Given the description of an element on the screen output the (x, y) to click on. 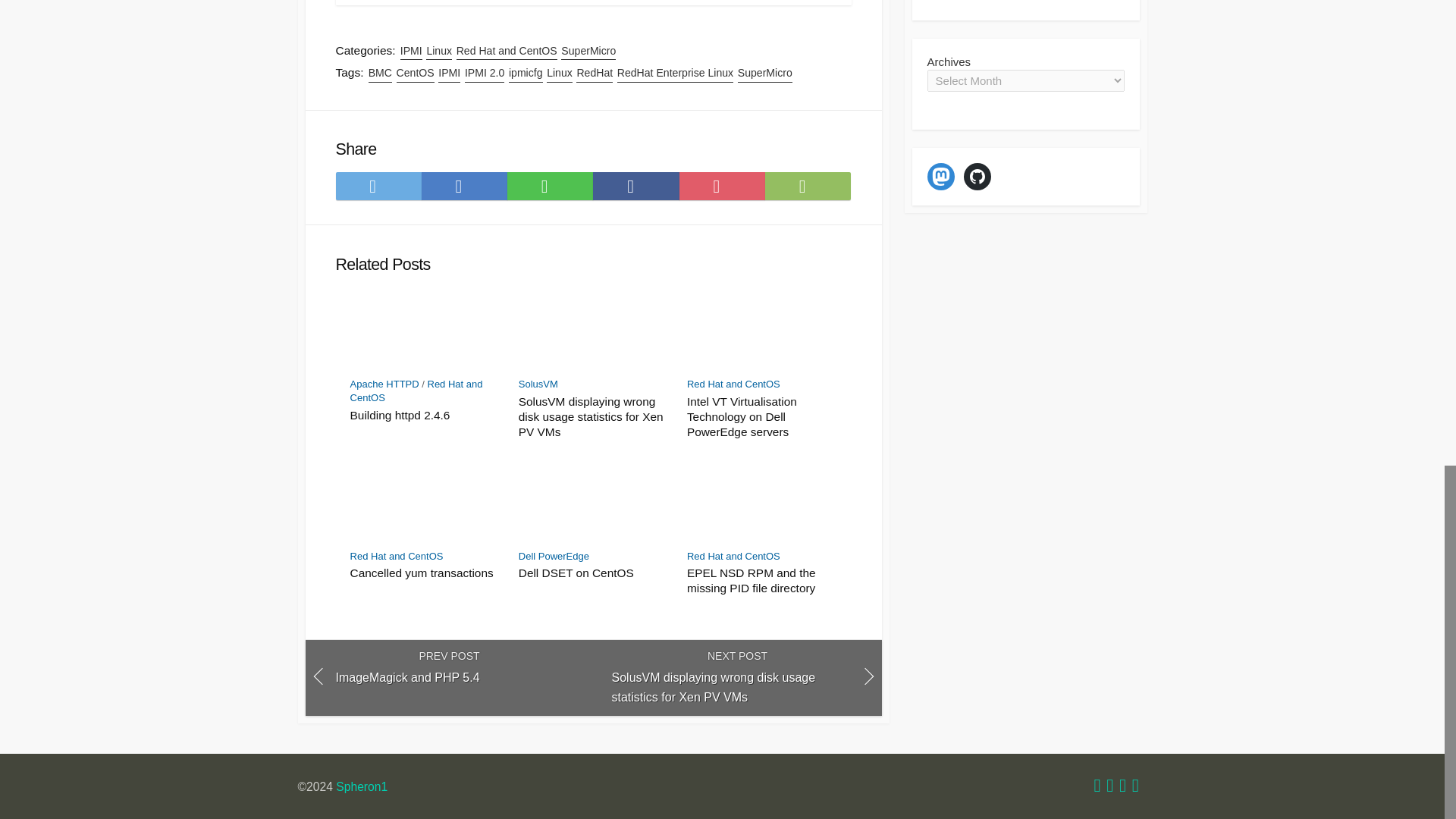
SolusVM (537, 383)
Red Hat and CentOS (733, 383)
IPMI (449, 72)
BMC (379, 72)
Cancelled yum transactions (425, 572)
Red Hat and CentOS (507, 50)
RedHat (594, 72)
Red Hat and CentOS (397, 555)
IPMI (411, 50)
